Given the description of an element on the screen output the (x, y) to click on. 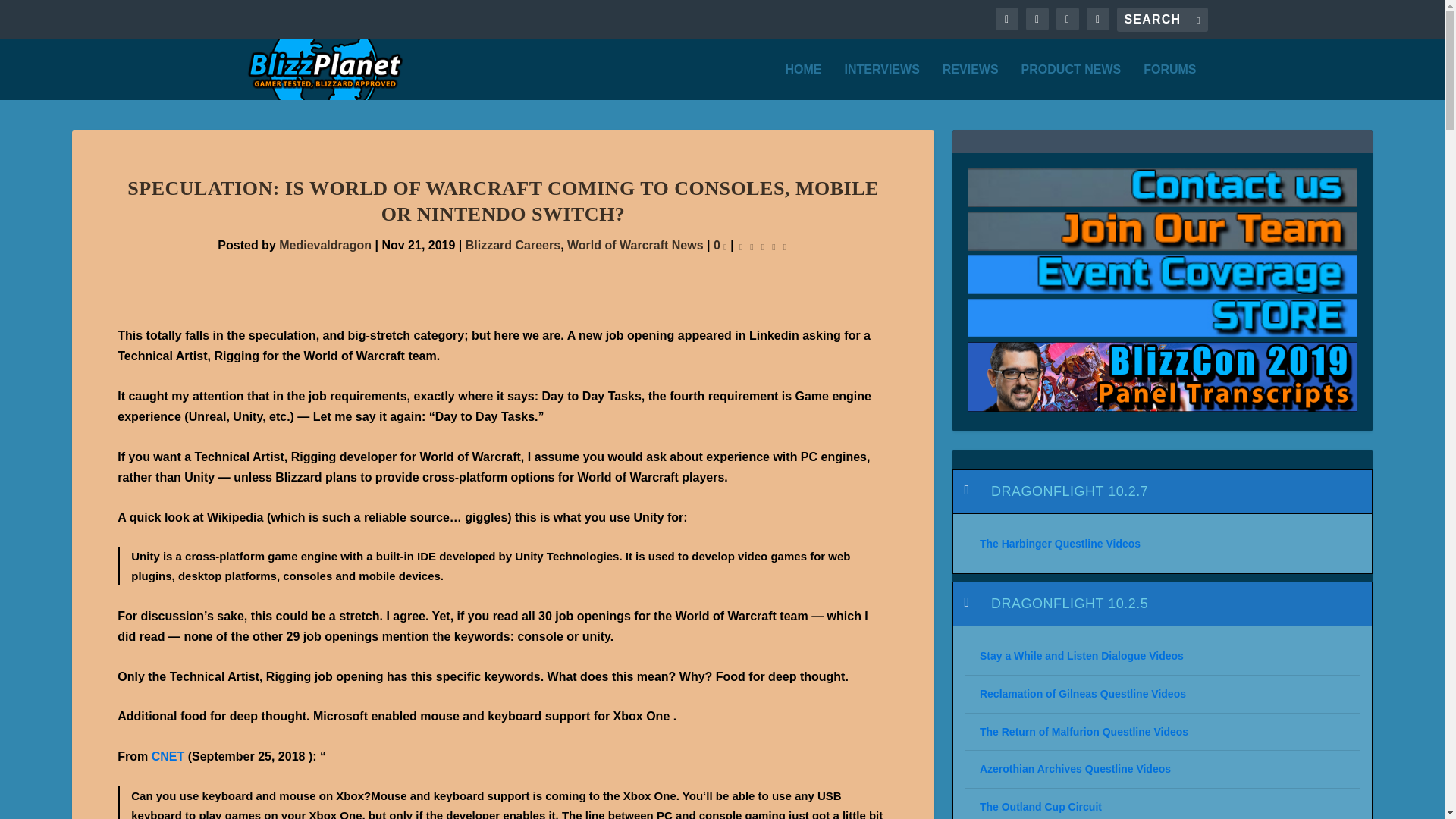
0 (719, 245)
World of Warcraft News (635, 245)
Rating: 0.00 (762, 246)
REVIEWS (970, 81)
FORUMS (1168, 81)
HOME (804, 81)
Blizzard Careers (512, 245)
CNET (167, 756)
Posts by Medievaldragon (325, 245)
PRODUCT NEWS (1071, 81)
INTERVIEWS (882, 81)
Medievaldragon (325, 245)
Search for: (1161, 19)
